Given the description of an element on the screen output the (x, y) to click on. 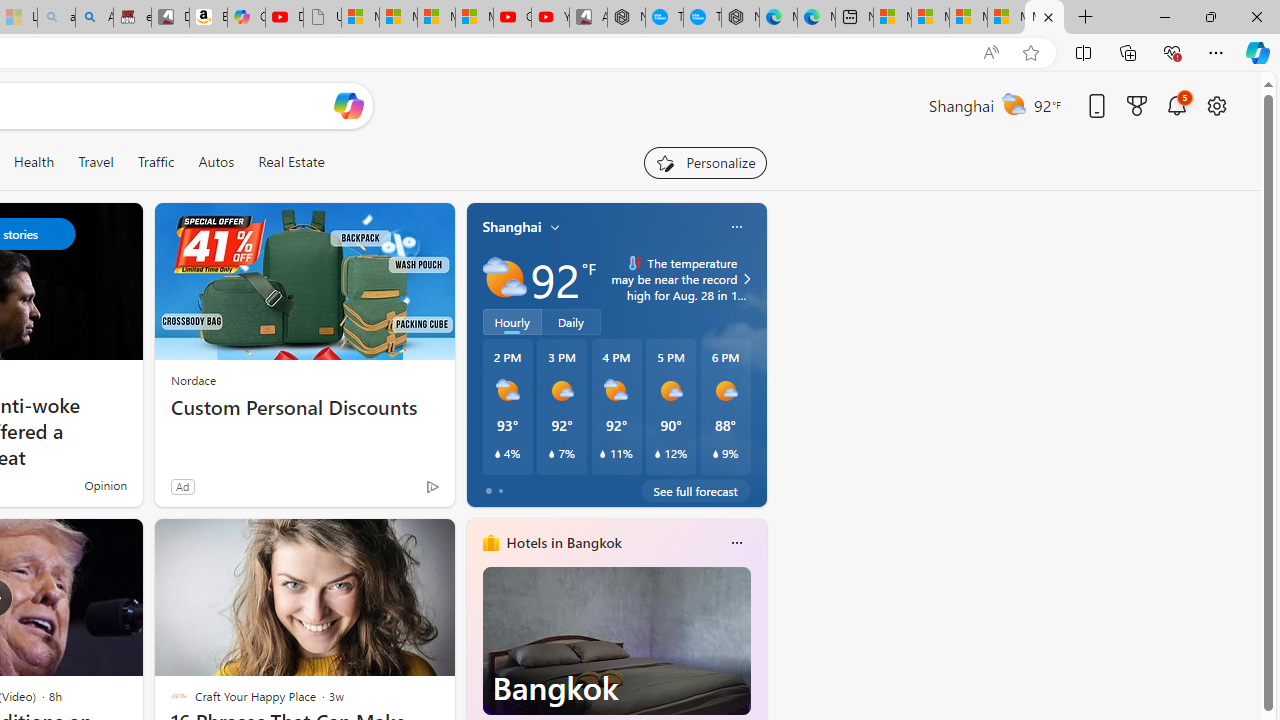
Nordace - My Account (626, 17)
Real Estate (291, 161)
Custom Personal Discounts (304, 407)
Ad Choice (432, 485)
Hourly (511, 321)
Split screen (1083, 52)
Amazon Echo Dot PNG - Search Images (93, 17)
Hide this story (393, 542)
